Given the description of an element on the screen output the (x, y) to click on. 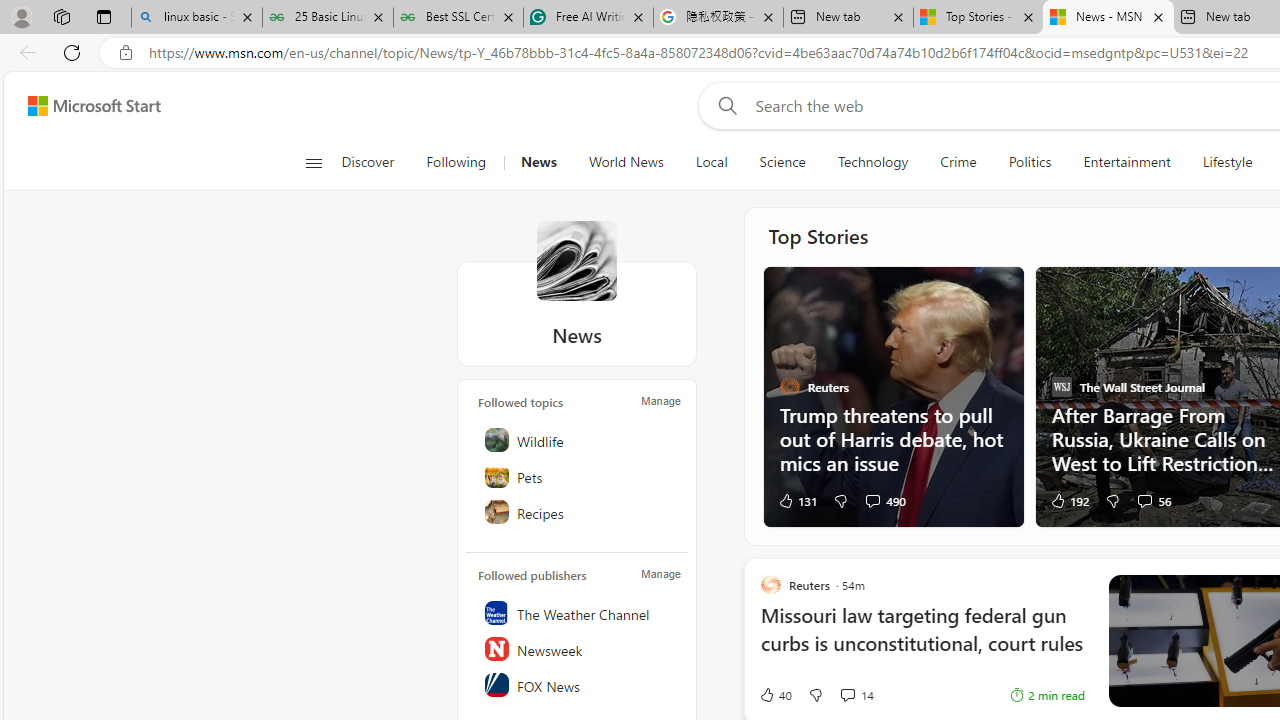
Recipes (578, 511)
Wildlife (578, 439)
192 Like (1068, 500)
Newsweek (578, 648)
